Given the description of an element on the screen output the (x, y) to click on. 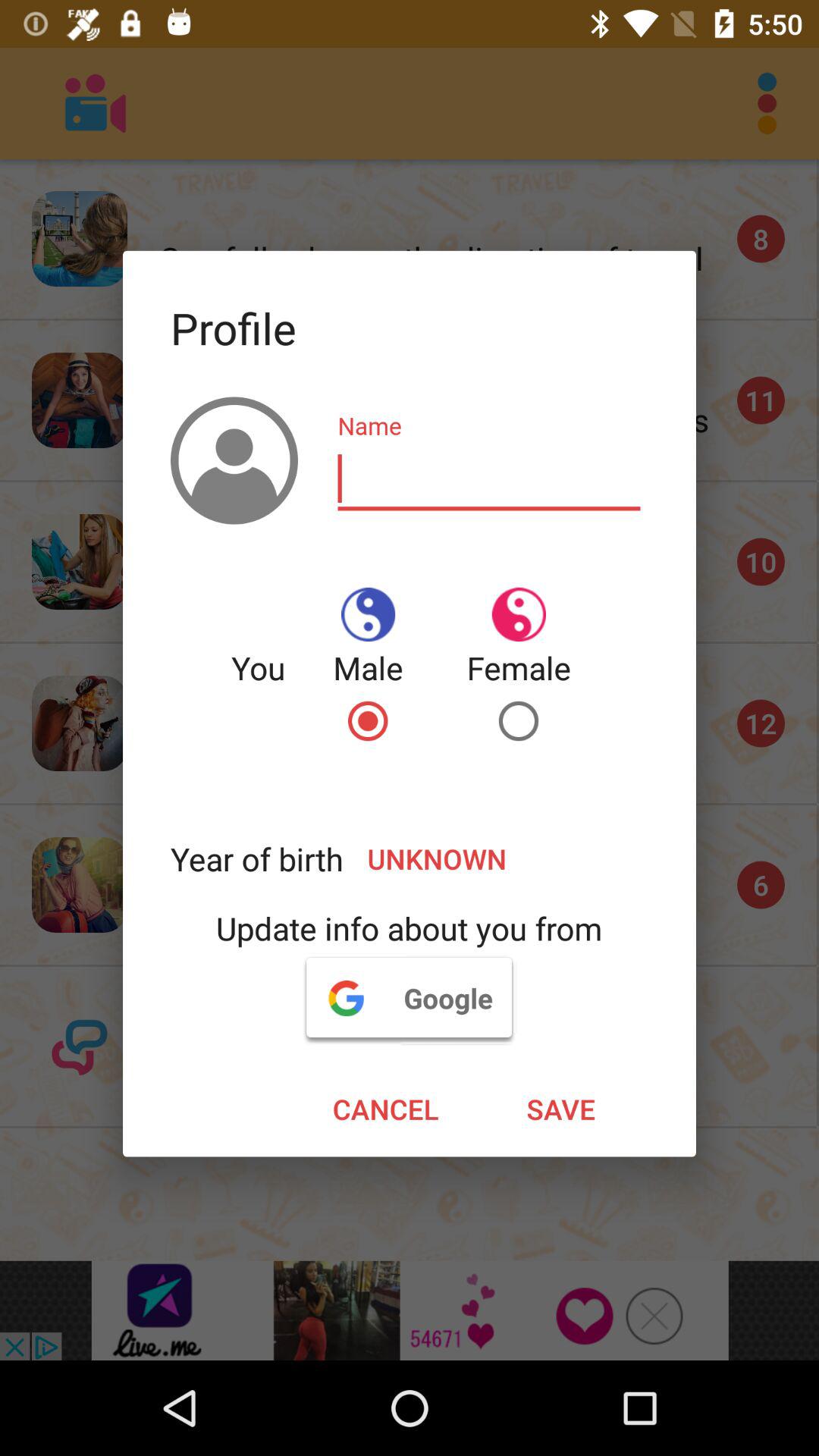
open the save (560, 1108)
